Given the description of an element on the screen output the (x, y) to click on. 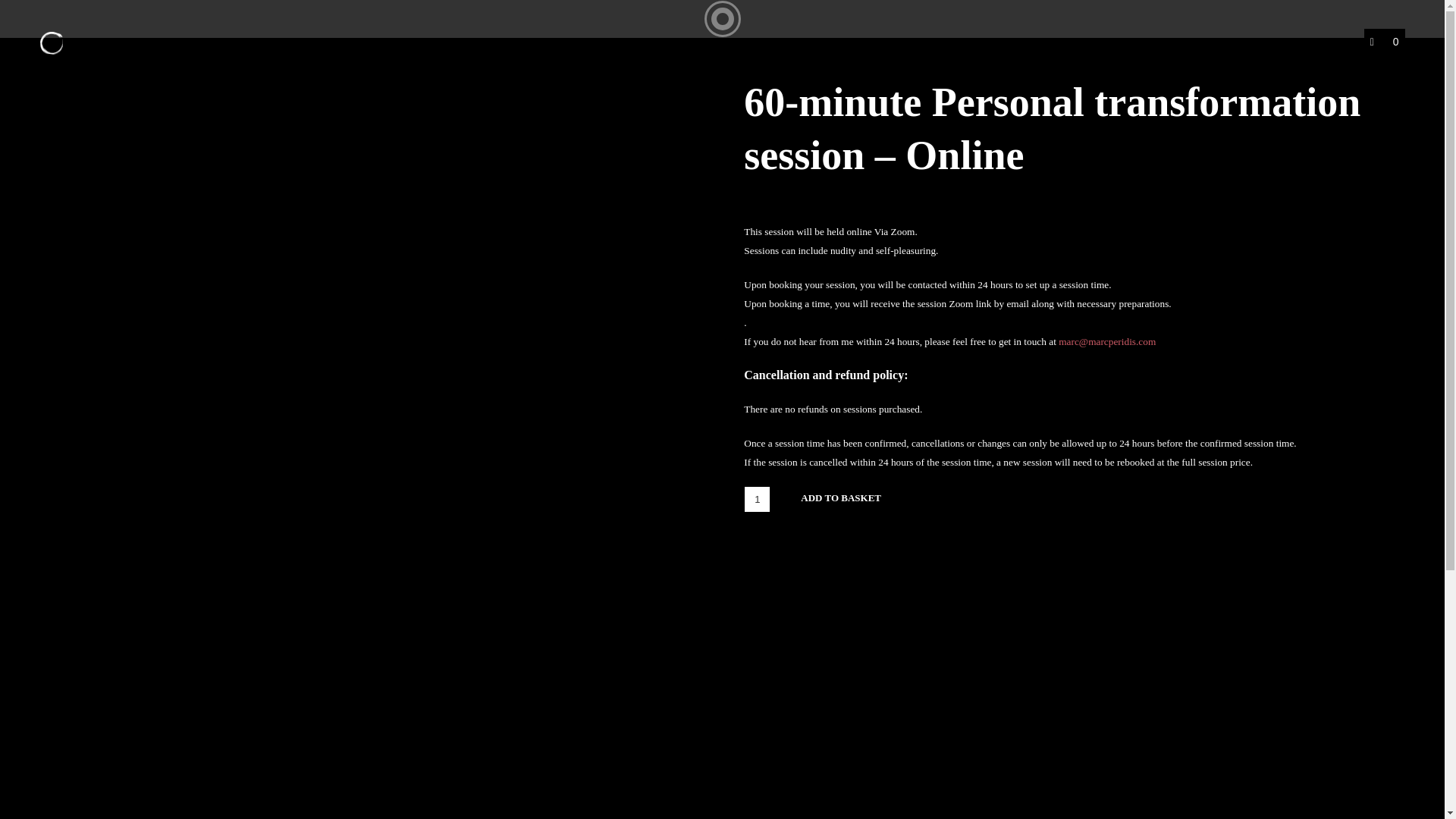
Orgasmic Shaman (50, 42)
1 (757, 499)
ADD TO BASKET (841, 498)
